Given the description of an element on the screen output the (x, y) to click on. 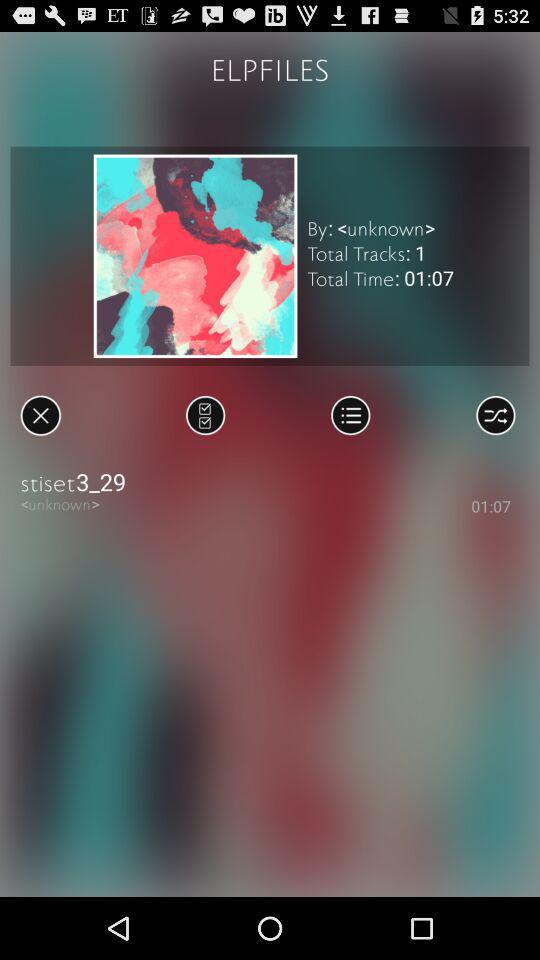
click the stiset3_29 icon (270, 481)
